Given the description of an element on the screen output the (x, y) to click on. 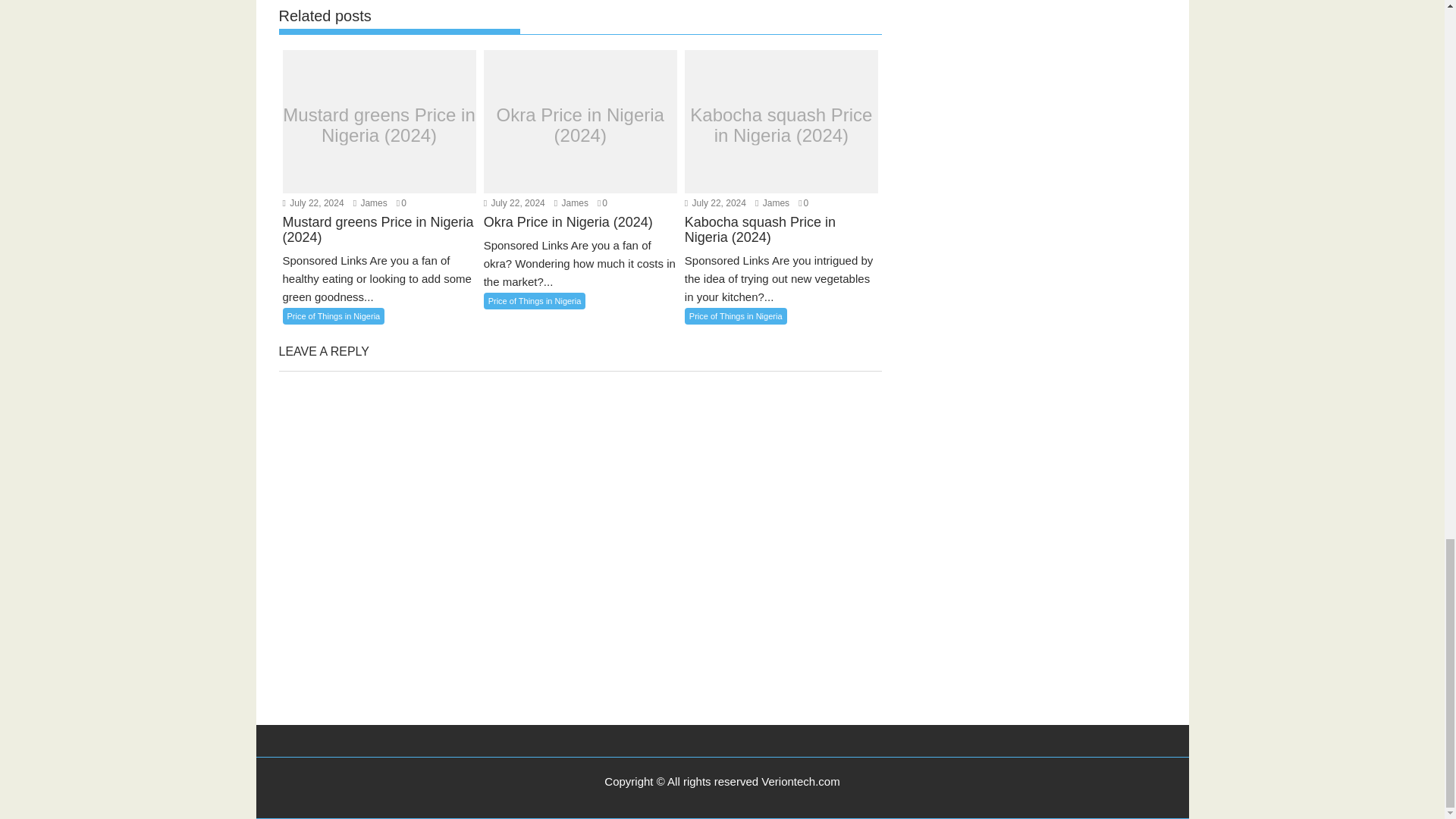
July 22, 2024 (312, 203)
0 (401, 203)
James (370, 203)
James (370, 203)
